Given the description of an element on the screen output the (x, y) to click on. 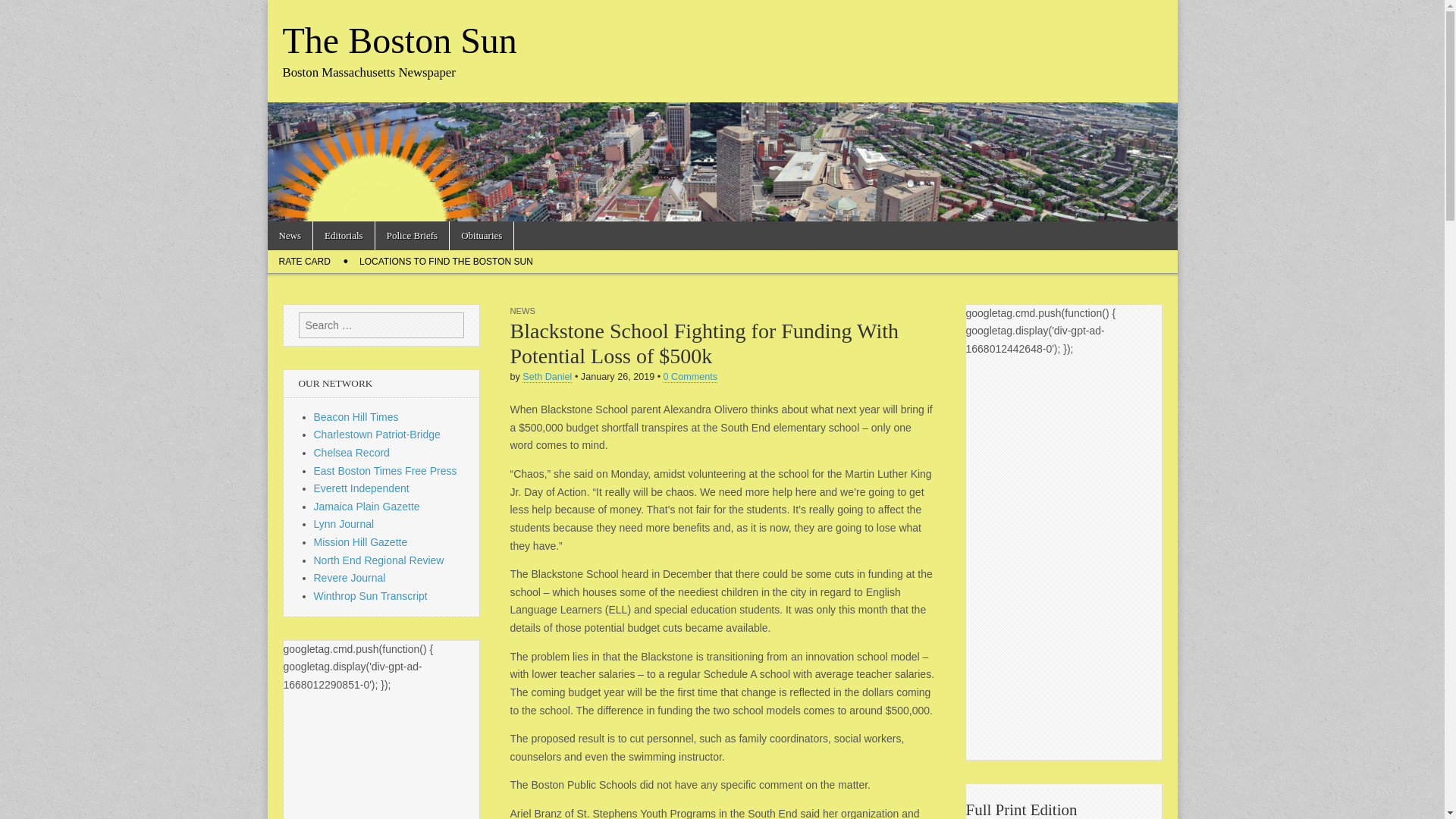
Editorials (343, 235)
The Boston Sun (399, 40)
Winthrop Sun Transcript (371, 595)
Chelsea Record (352, 452)
Beacon Hill Times (356, 417)
RATE CARD (303, 261)
0 Comments (690, 377)
Police Briefs (412, 235)
Seth Daniel (547, 377)
Jamaica Plain Gazette (367, 506)
East Boston Times Free Press (385, 470)
Revere Journal (349, 577)
The Boston Sun (399, 40)
